Given the description of an element on the screen output the (x, y) to click on. 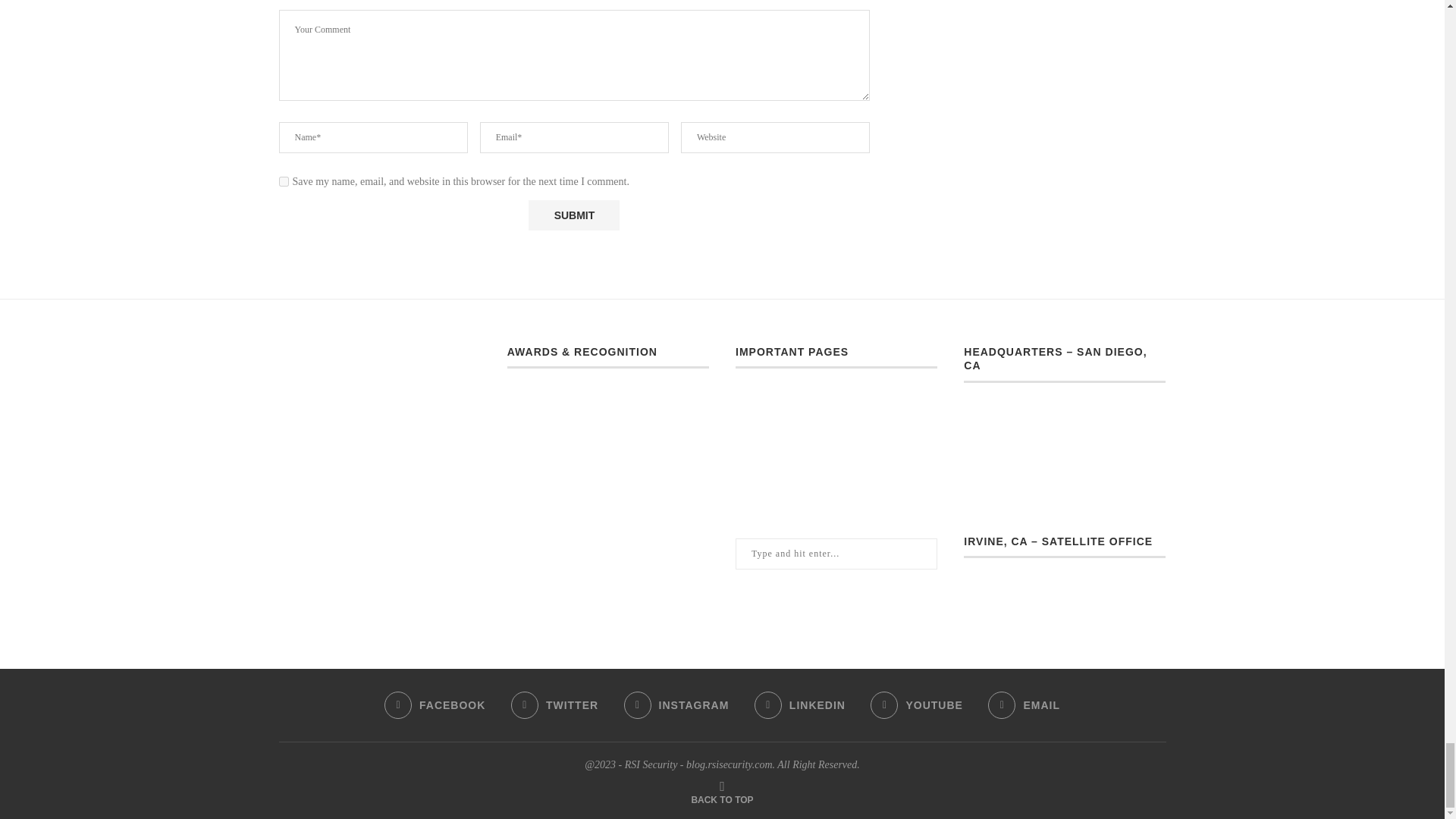
yes (283, 181)
Submit (574, 214)
